Given the description of an element on the screen output the (x, y) to click on. 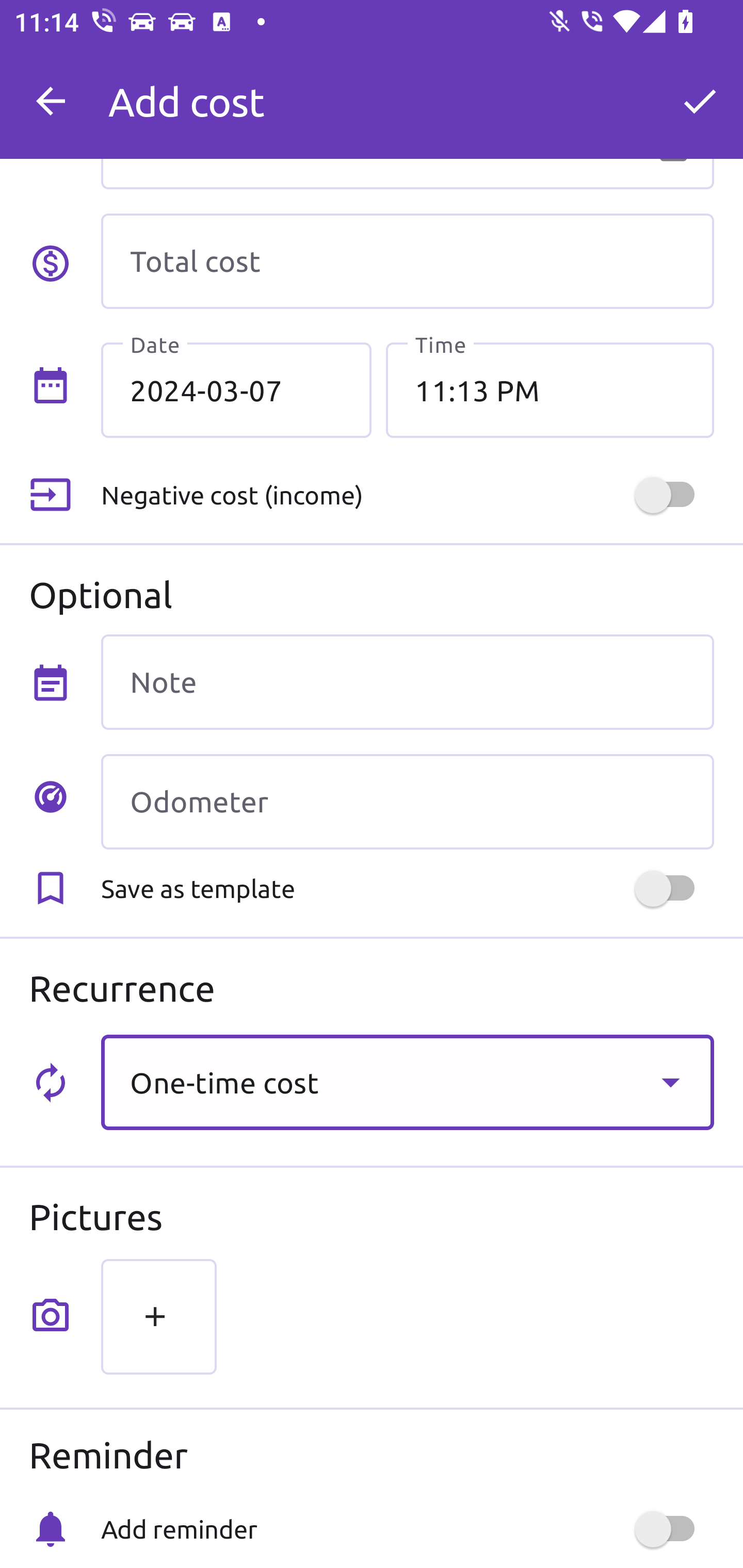
M My Car 0 km (407, 92)
Navigate up (50, 101)
OK (699, 101)
Total cost  (407, 260)
2024-03-07 (236, 389)
11:13 PM (549, 389)
Negative cost (income) (407, 494)
Note (407, 682)
Odometer (407, 801)
Save as template (407, 887)
One-time cost (407, 1082)
Show dropdown menu (670, 1081)
Add reminder (407, 1529)
